Given the description of an element on the screen output the (x, y) to click on. 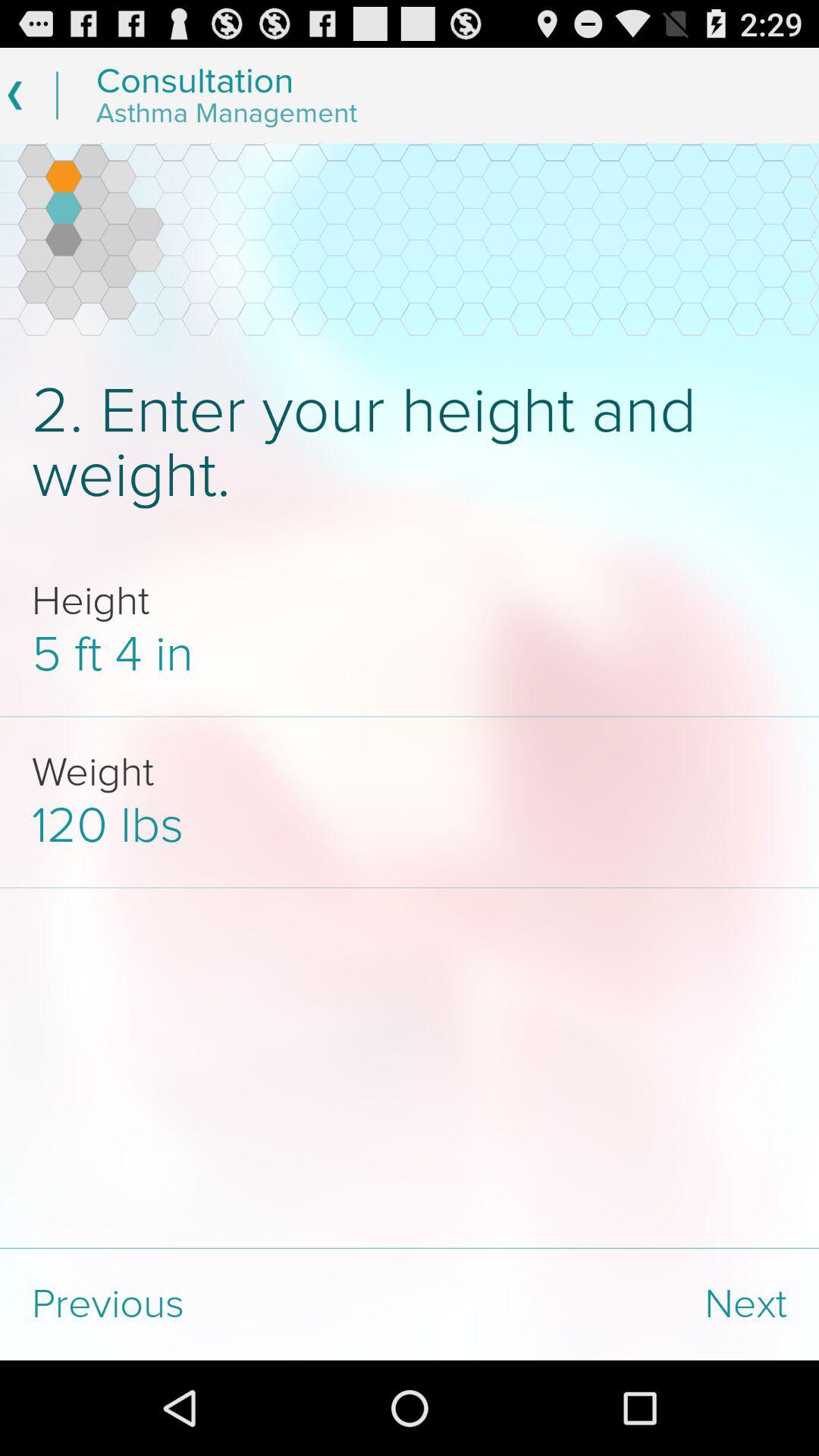
open the icon next to previous item (614, 1304)
